Given the description of an element on the screen output the (x, y) to click on. 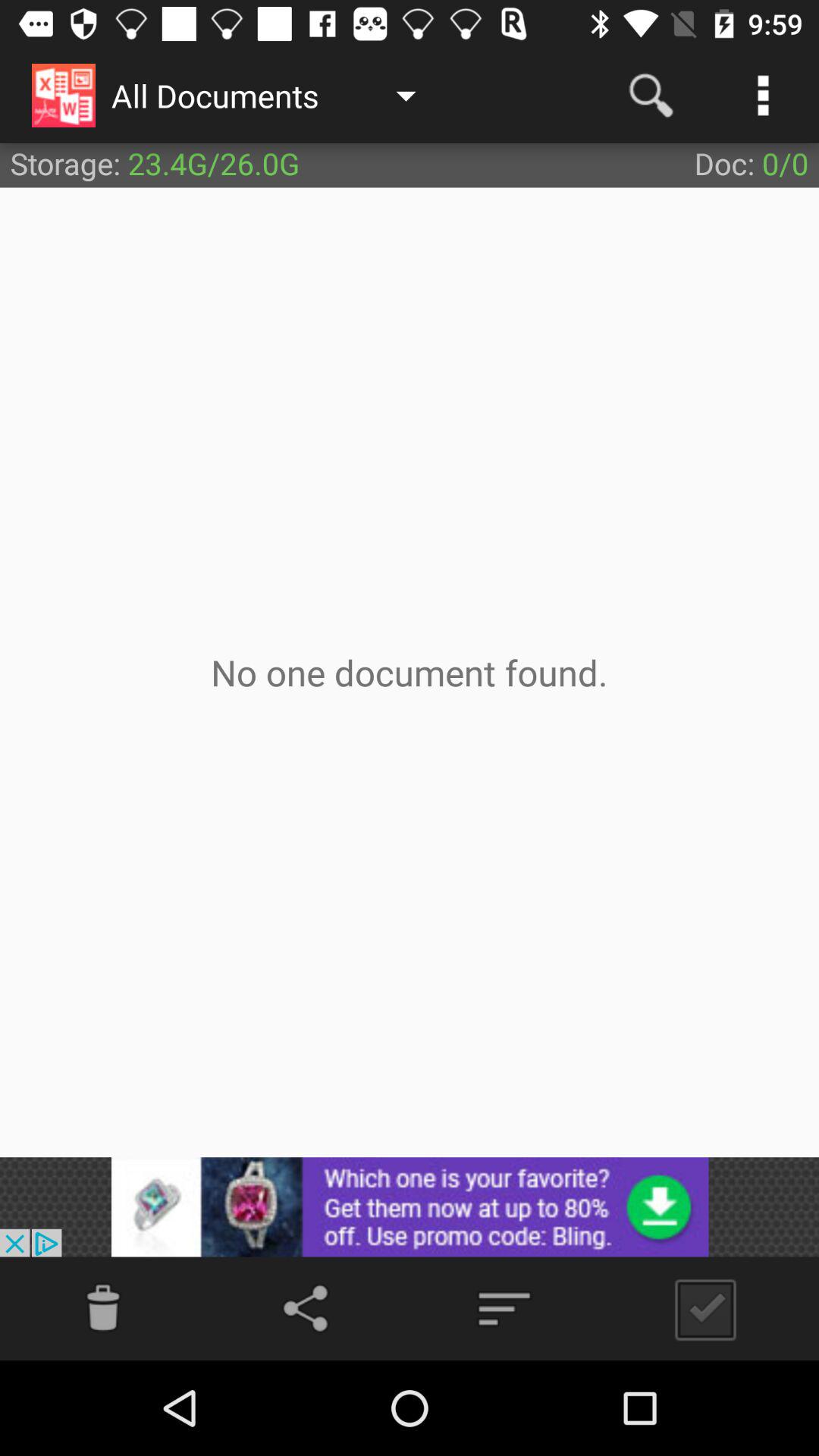
send to trash (102, 1308)
